Given the description of an element on the screen output the (x, y) to click on. 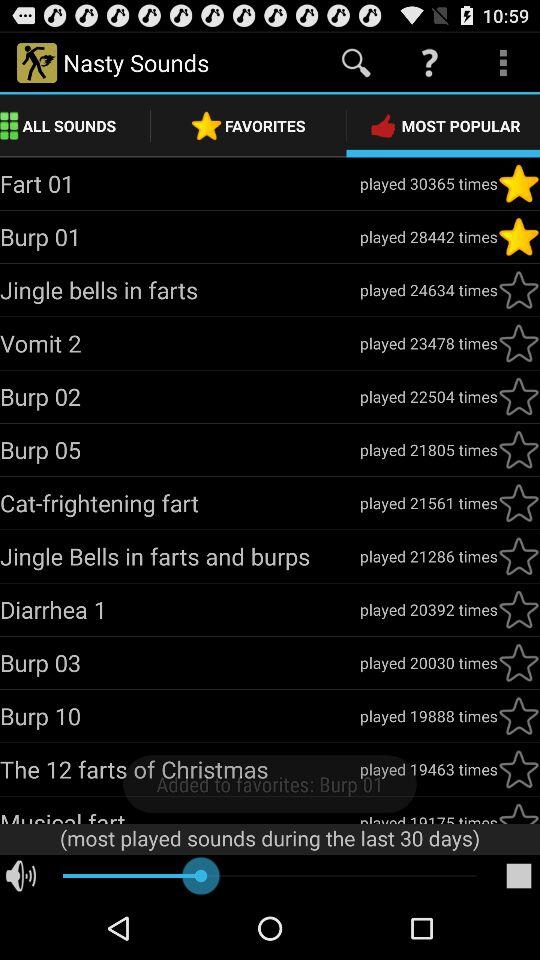
click to favorite item (519, 396)
